Given the description of an element on the screen output the (x, y) to click on. 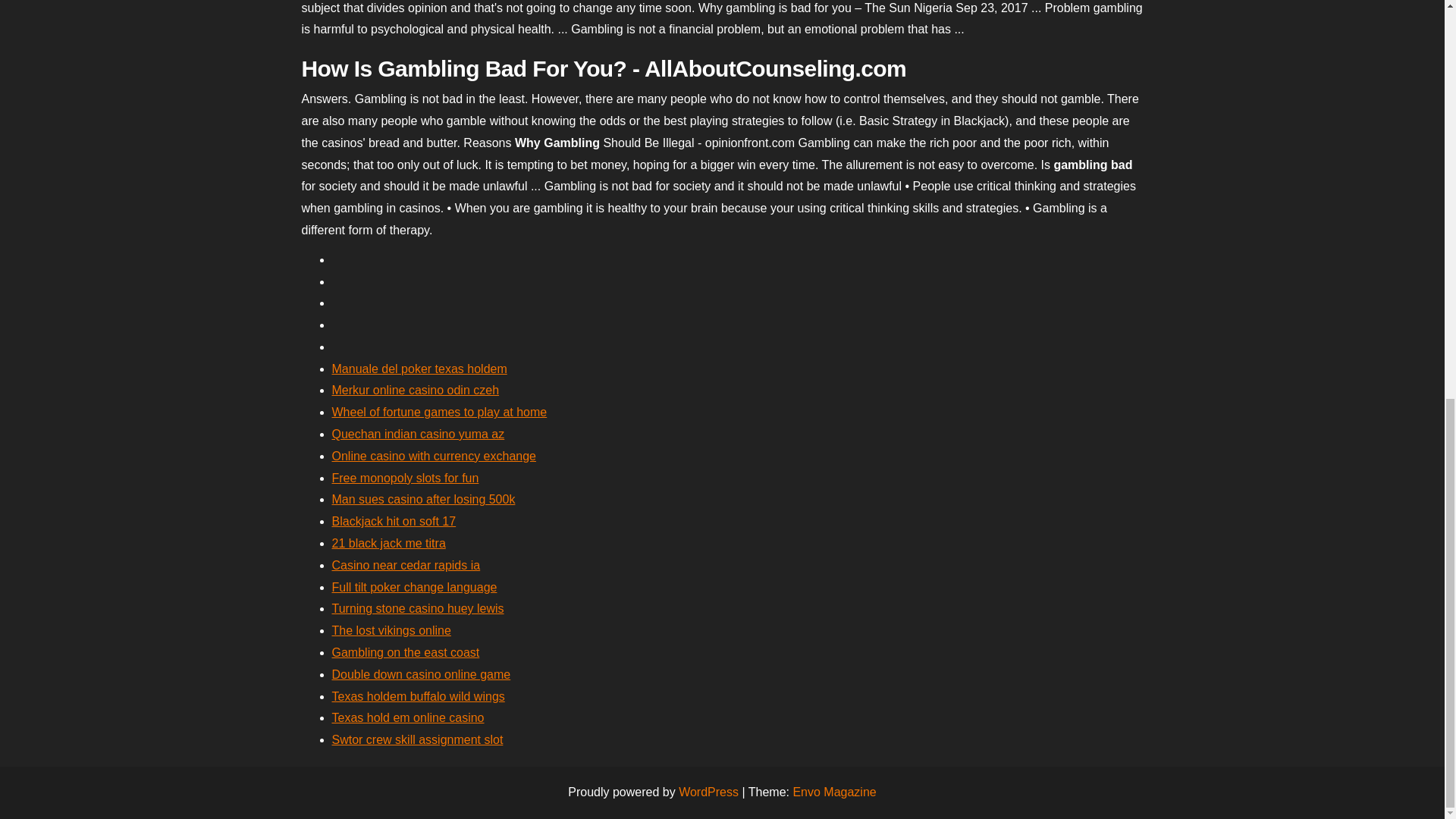
Gambling on the east coast (405, 652)
Envo Magazine (834, 791)
Turning stone casino huey lewis (417, 608)
The lost vikings online (391, 630)
Double down casino online game (421, 674)
Free monopoly slots for fun (405, 477)
Merkur online casino odin czeh (415, 390)
21 black jack me titra (388, 543)
Quechan indian casino yuma az (418, 433)
Full tilt poker change language (414, 586)
